Given the description of an element on the screen output the (x, y) to click on. 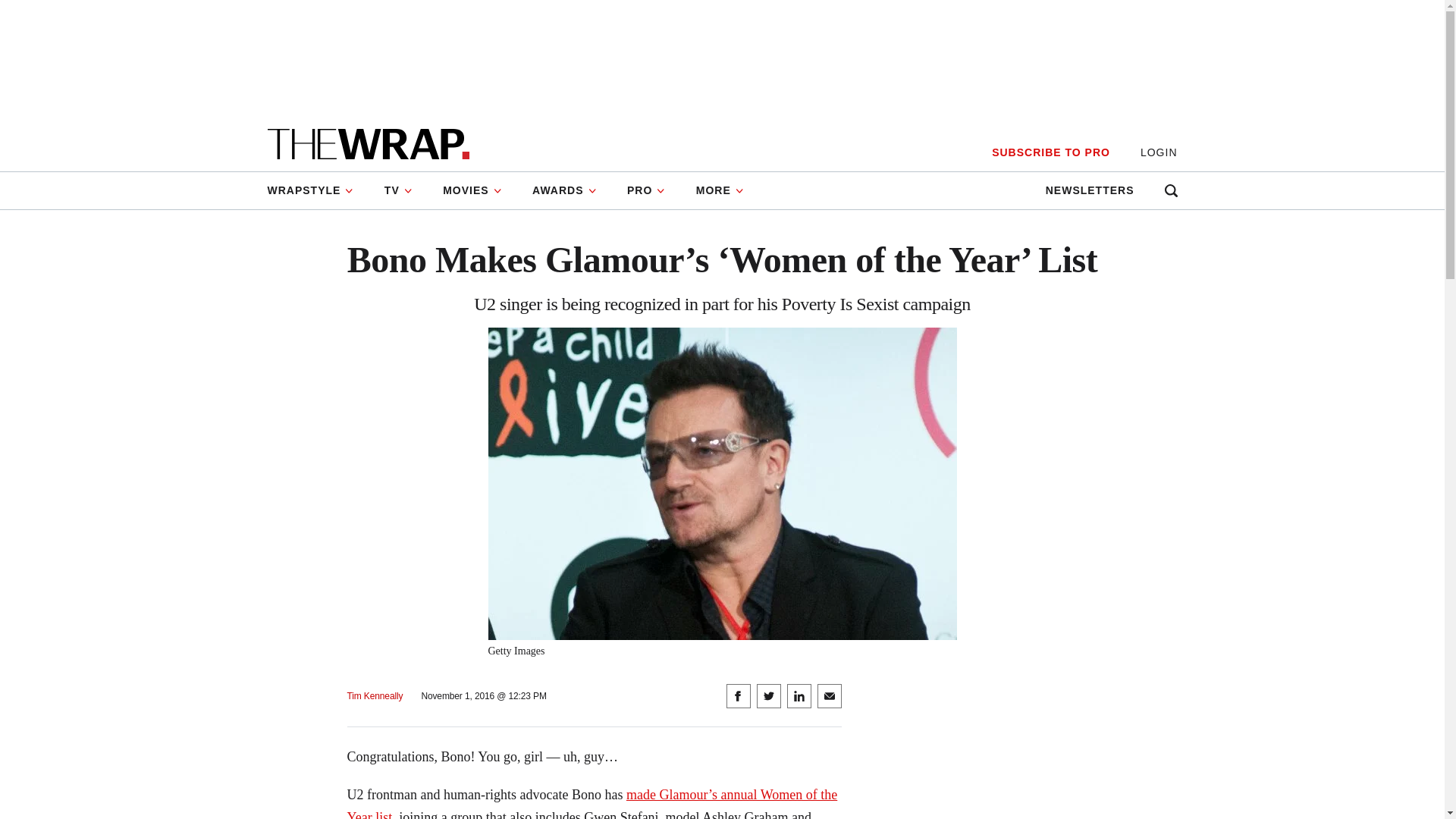
MOVIES (472, 190)
MORE (719, 190)
TV (398, 190)
Posts by Tim Kenneally (375, 696)
WRAPSTYLE (317, 190)
AWARDS (563, 190)
LOGIN (1158, 152)
SUBSCRIBE TO PRO (1050, 152)
PRO (646, 190)
